Given the description of an element on the screen output the (x, y) to click on. 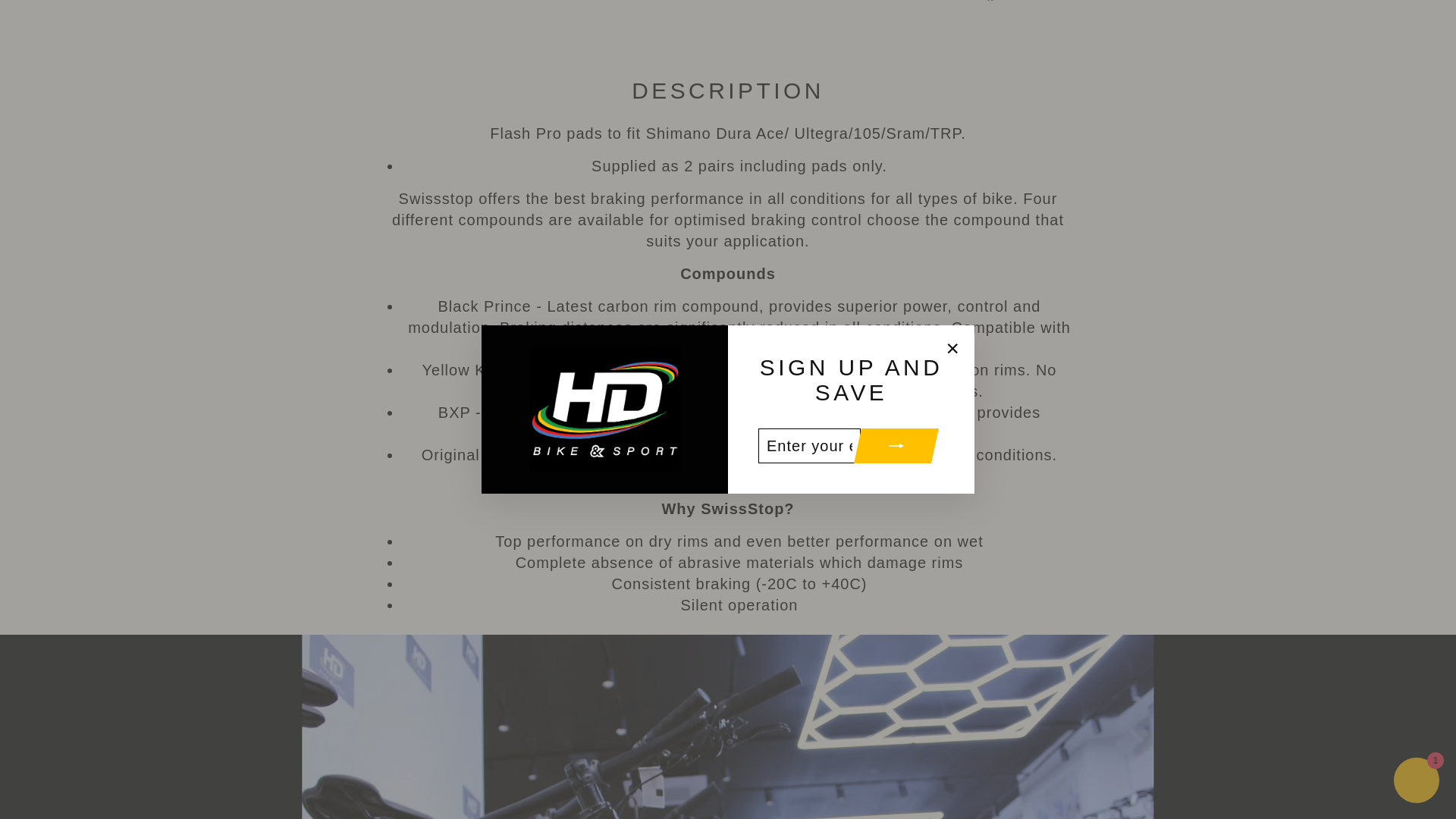
Share on Facebook (1019, 1)
